Given the description of an element on the screen output the (x, y) to click on. 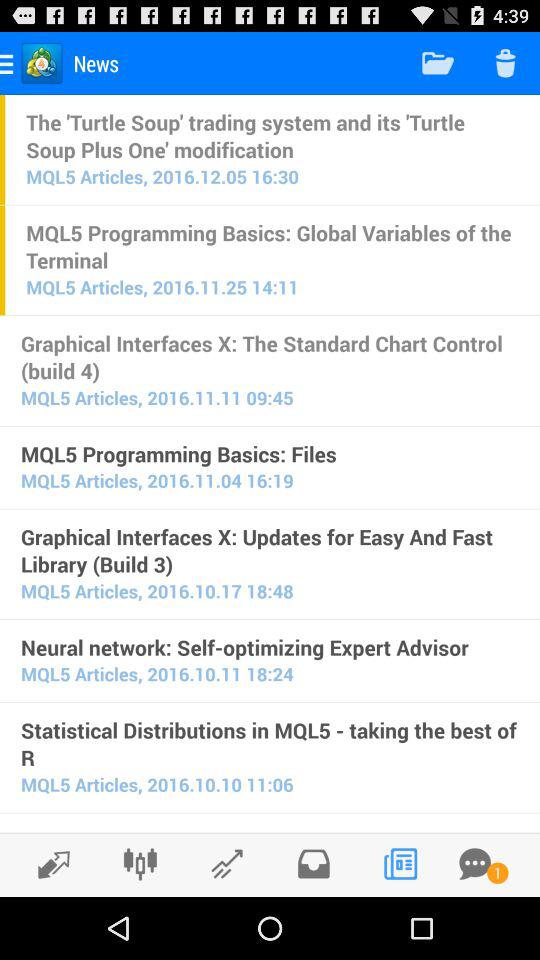
turn on icon below the mql5 articles 2016 icon (270, 743)
